Given the description of an element on the screen output the (x, y) to click on. 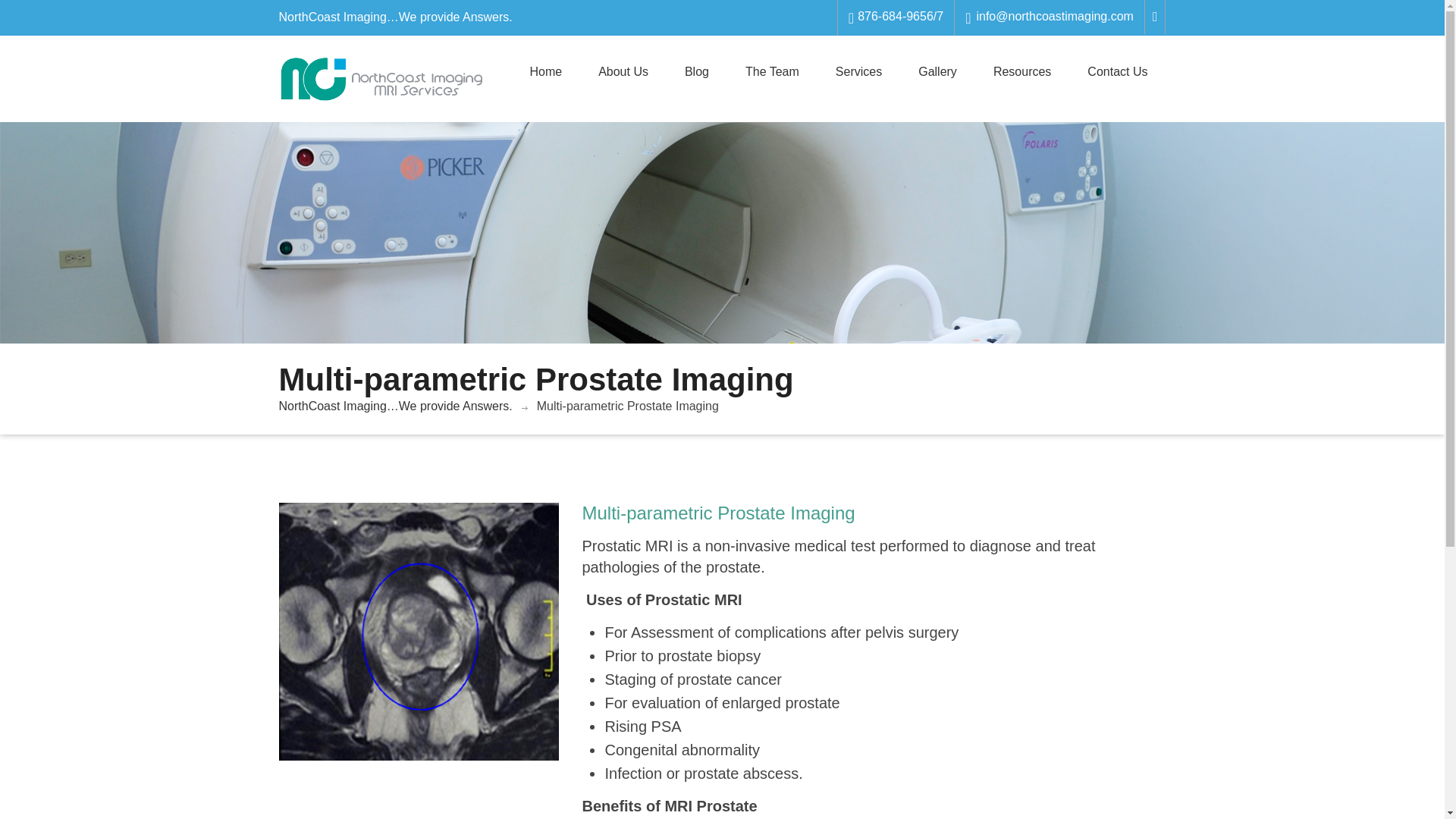
Home (545, 71)
Gallery (937, 71)
Contact Us (1117, 71)
Resources (1021, 71)
The Team (771, 71)
Blog (696, 71)
About Us (622, 71)
Services (857, 71)
